Given the description of an element on the screen output the (x, y) to click on. 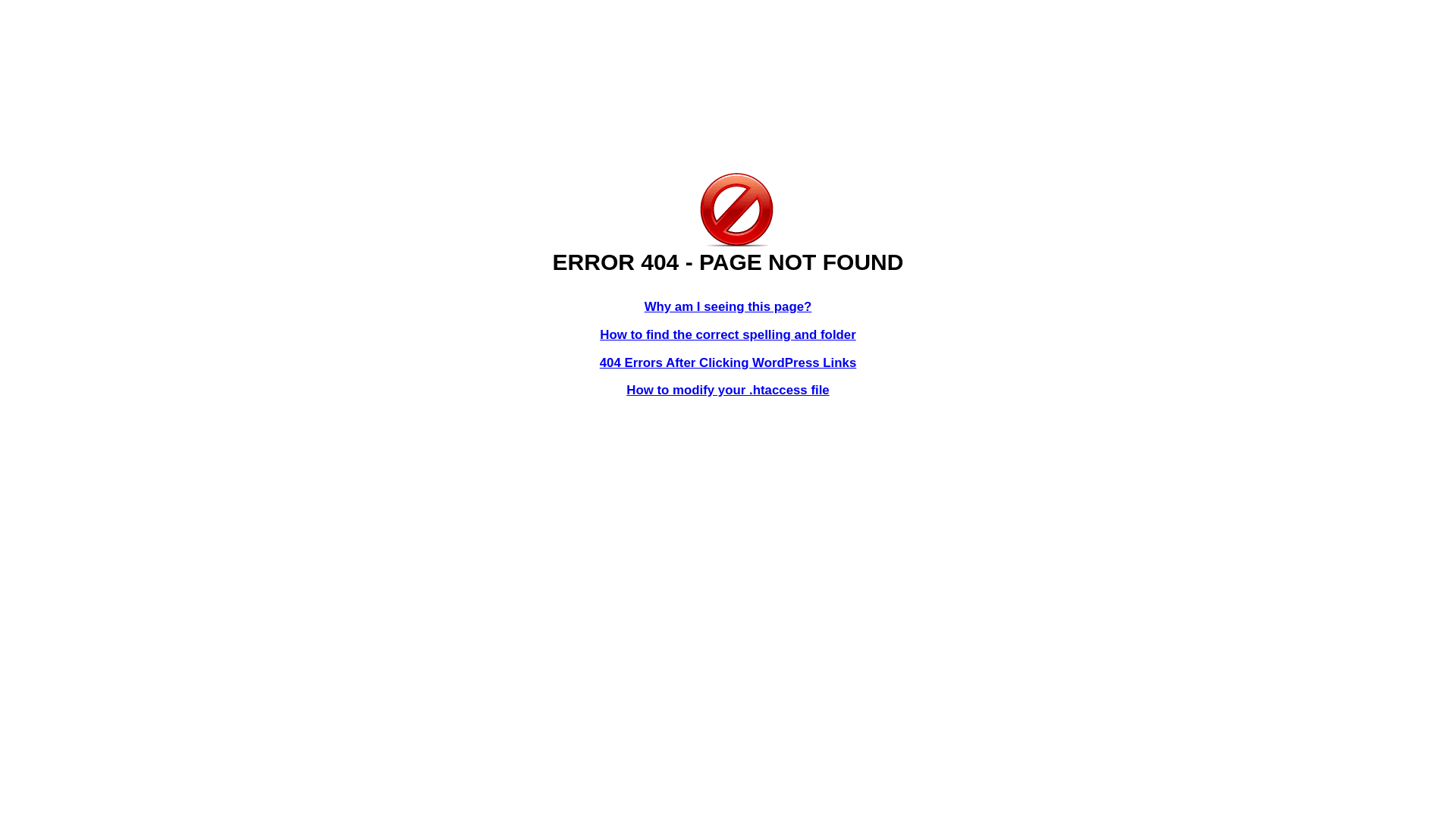
How to find the correct spelling and folder Element type: text (727, 334)
Why am I seeing this page? Element type: text (728, 306)
404 Errors After Clicking WordPress Links Element type: text (727, 362)
How to modify your .htaccess file Element type: text (727, 389)
